Given the description of an element on the screen output the (x, y) to click on. 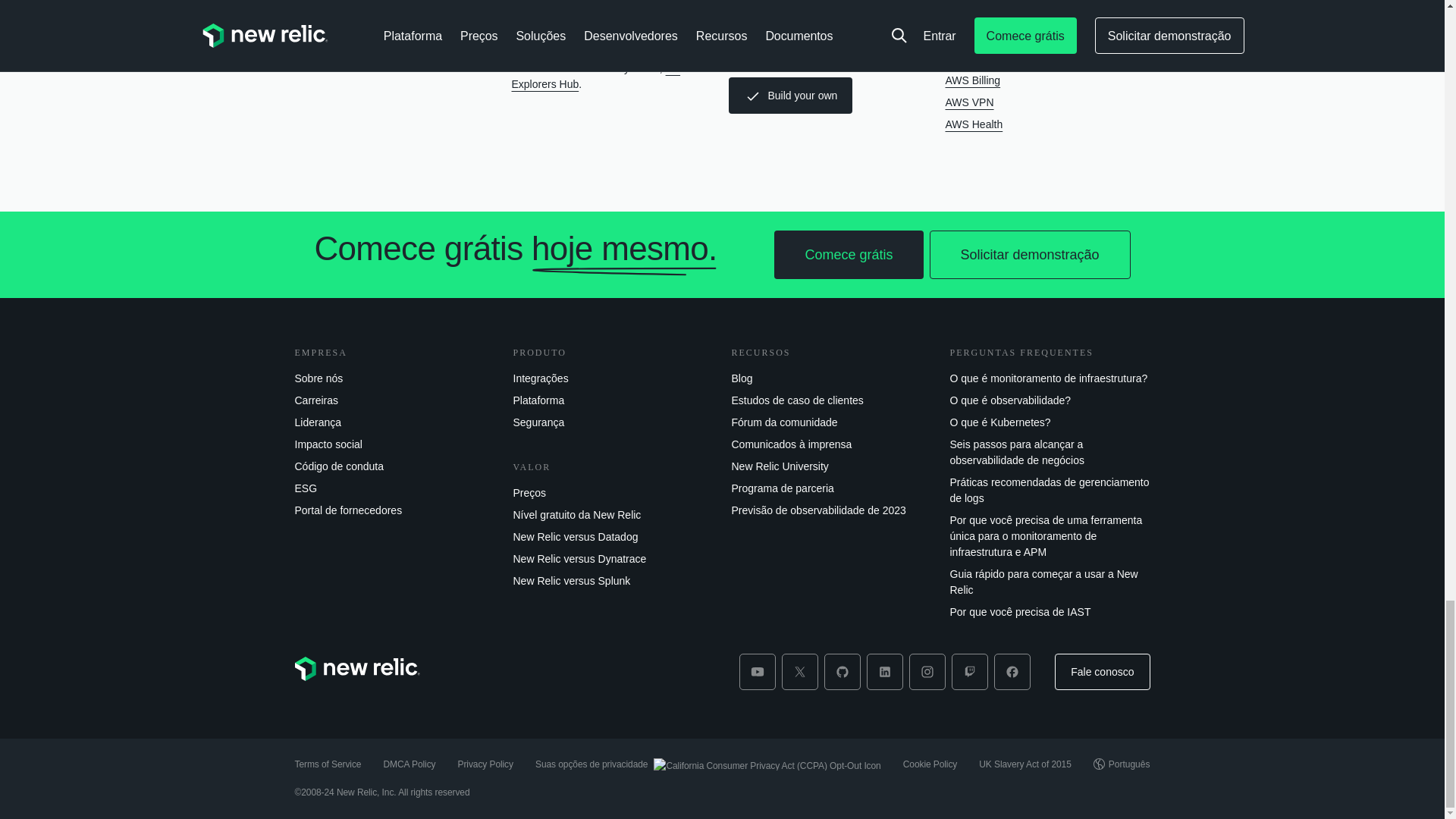
New Relic Logo (356, 668)
